Given the description of an element on the screen output the (x, y) to click on. 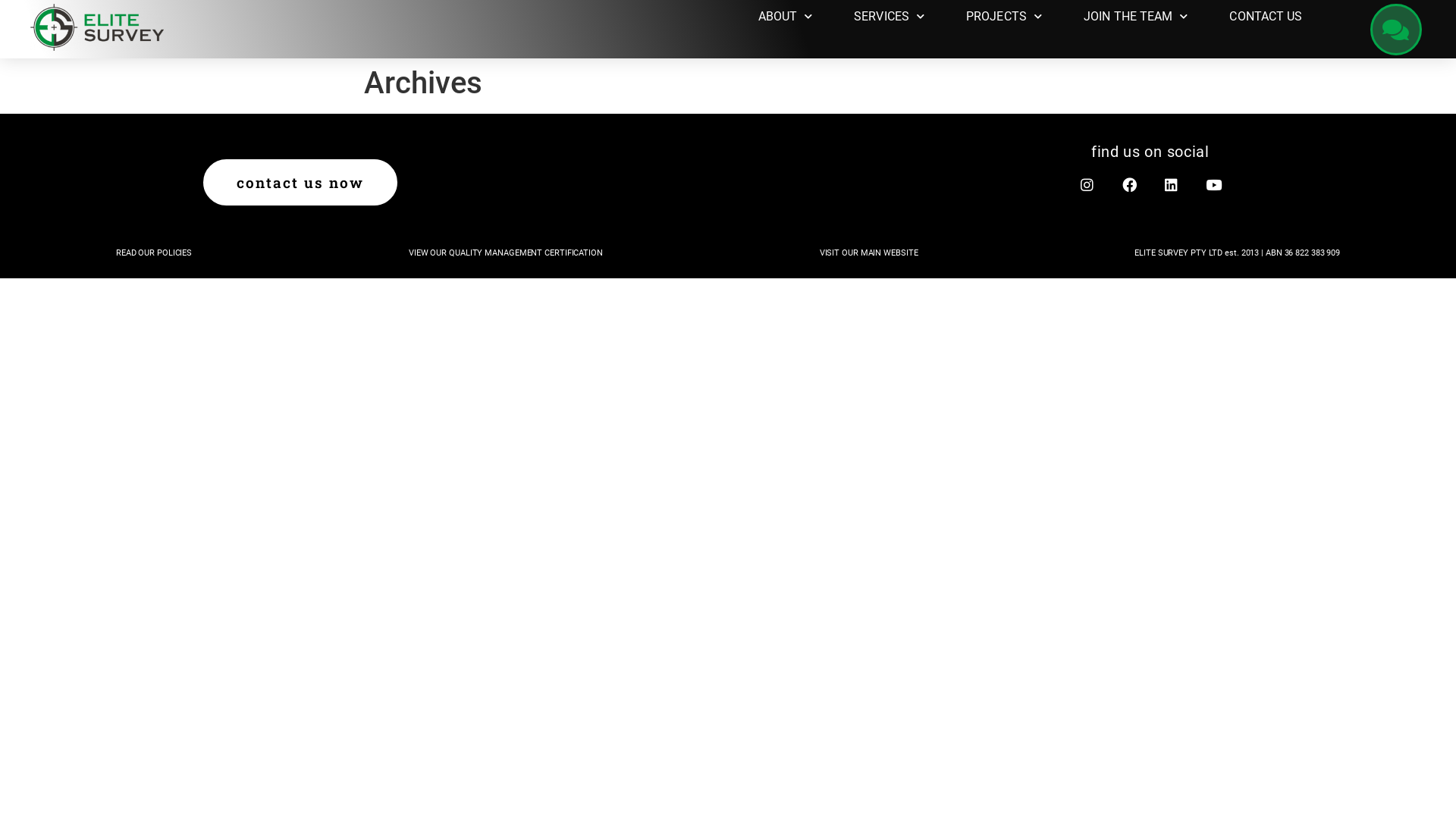
ELITE SURVEY PTY LTD est. 2013 | ABN 36 822 383 909 Element type: text (1237, 252)
VISIT OUR MAIN WEBSITE Element type: text (868, 252)
JOIN THE TEAM Element type: text (1135, 16)
PROJECTS Element type: text (1003, 16)
CONTACT US Element type: text (1265, 16)
ABOUT Element type: text (785, 16)
READ OUR POLICIES Element type: text (153, 252)
SERVICES Element type: text (888, 16)
contact us now Element type: text (300, 182)
VIEW OUR QUALITY MANAGEMENT CERTIFICATION Element type: text (505, 252)
